Given the description of an element on the screen output the (x, y) to click on. 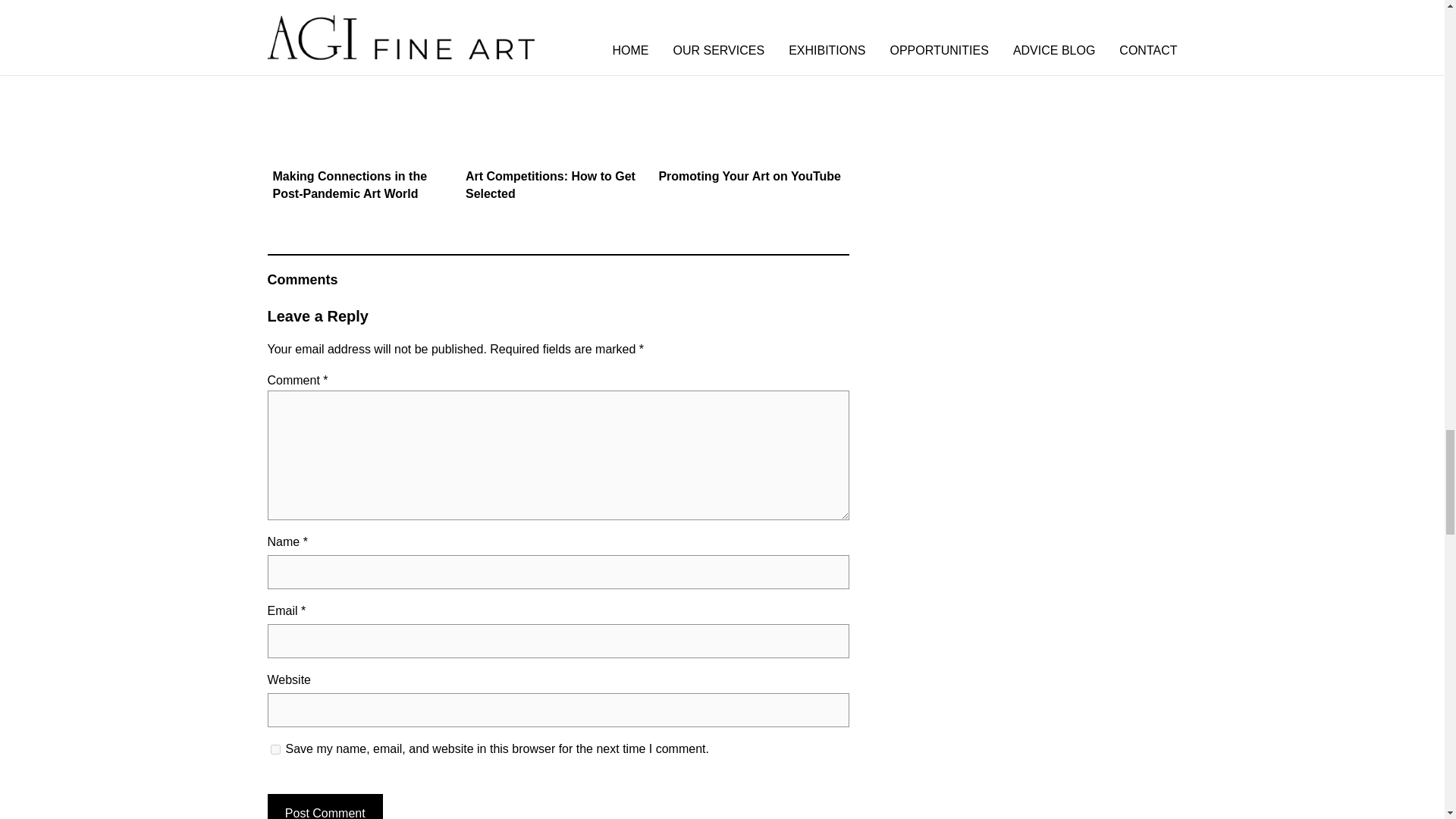
Promoting Your Art on YouTube (745, 127)
Art Competitions: How to Get Selected (553, 136)
Art Competitions: How to Get Selected (553, 136)
Making Connections in the Post-Pandemic Art World (359, 136)
Post Comment (323, 806)
Making Connections in the Post-Pandemic Art World (359, 136)
Promoting Your Art on YouTube (745, 127)
Post Comment (323, 806)
